Given the description of an element on the screen output the (x, y) to click on. 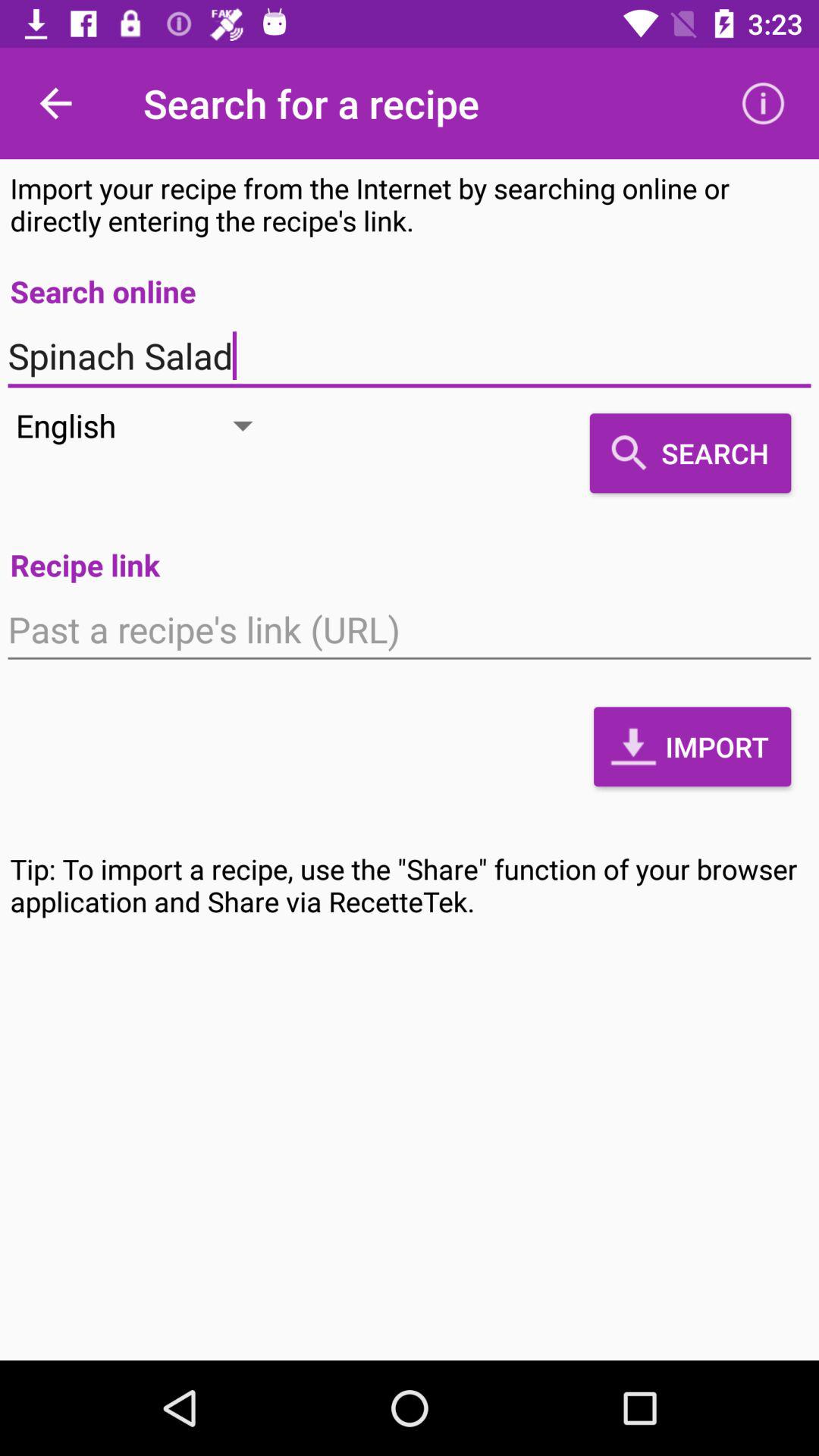
turn off icon to the left of search for a icon (55, 103)
